Given the description of an element on the screen output the (x, y) to click on. 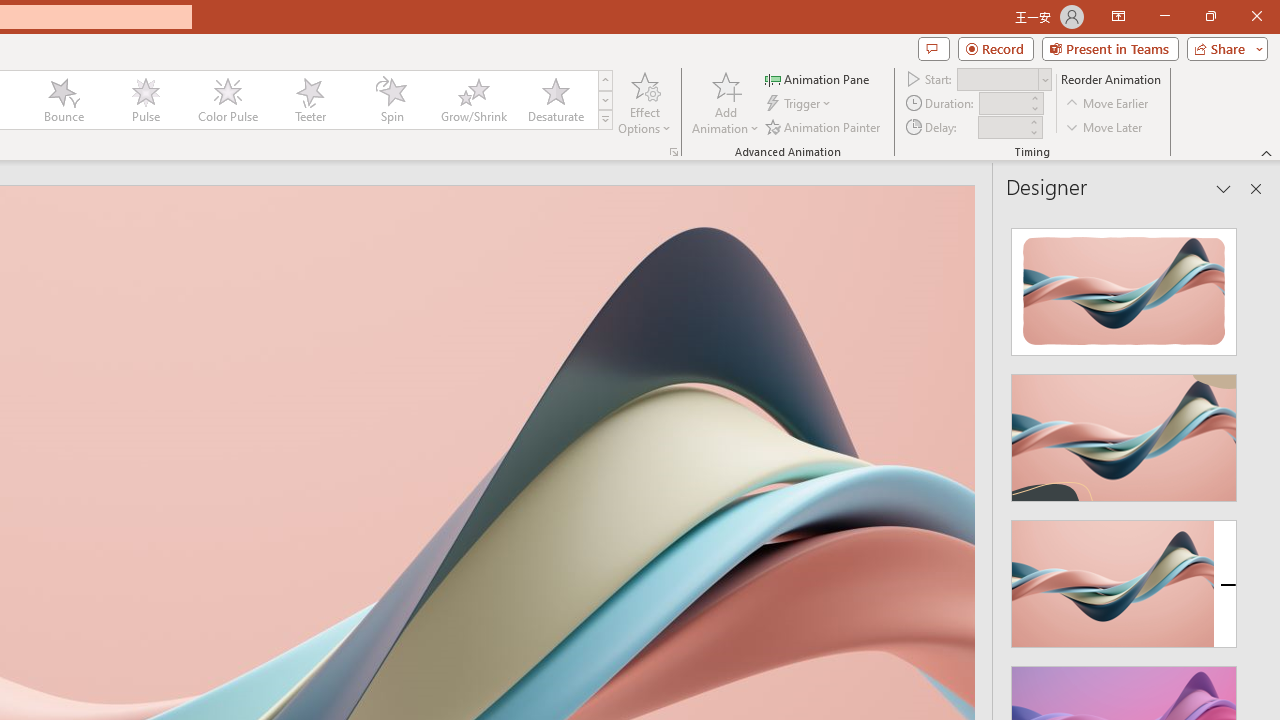
Color Pulse (227, 100)
Effect Options (644, 102)
Animation Painter (824, 126)
Grow/Shrink (473, 100)
Animation Pane (818, 78)
Animation Duration (1003, 103)
Bounce (63, 100)
Recommended Design: Design Idea (1124, 286)
